Given the description of an element on the screen output the (x, y) to click on. 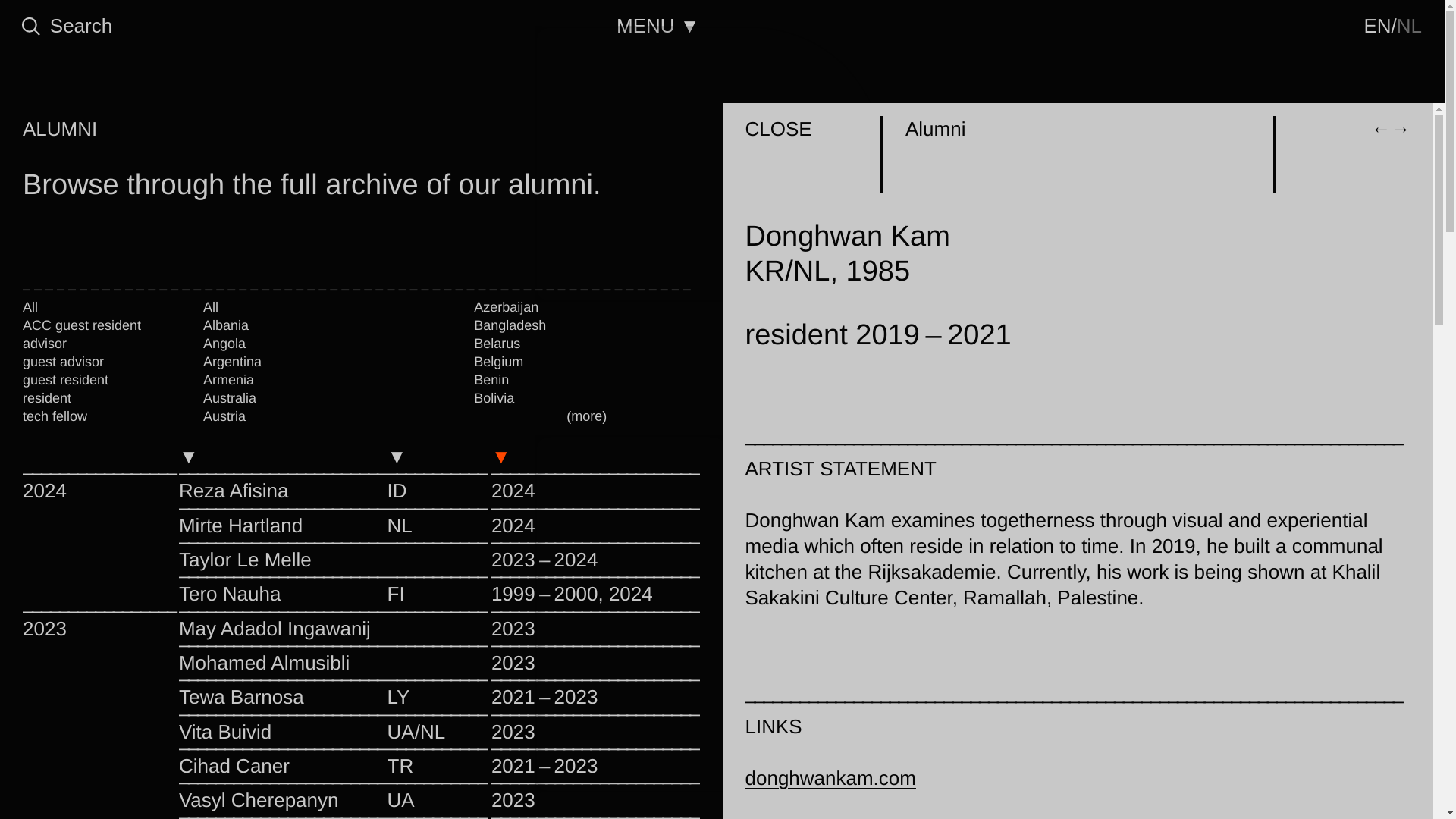
translation missing: en.ra.core.filter.component.all (30, 306)
NL (1409, 25)
CLOSE (777, 128)
translation missing: en.ra.core.filter.component.all (210, 306)
MENU (657, 25)
donghwankam.com (829, 777)
